Given the description of an element on the screen output the (x, y) to click on. 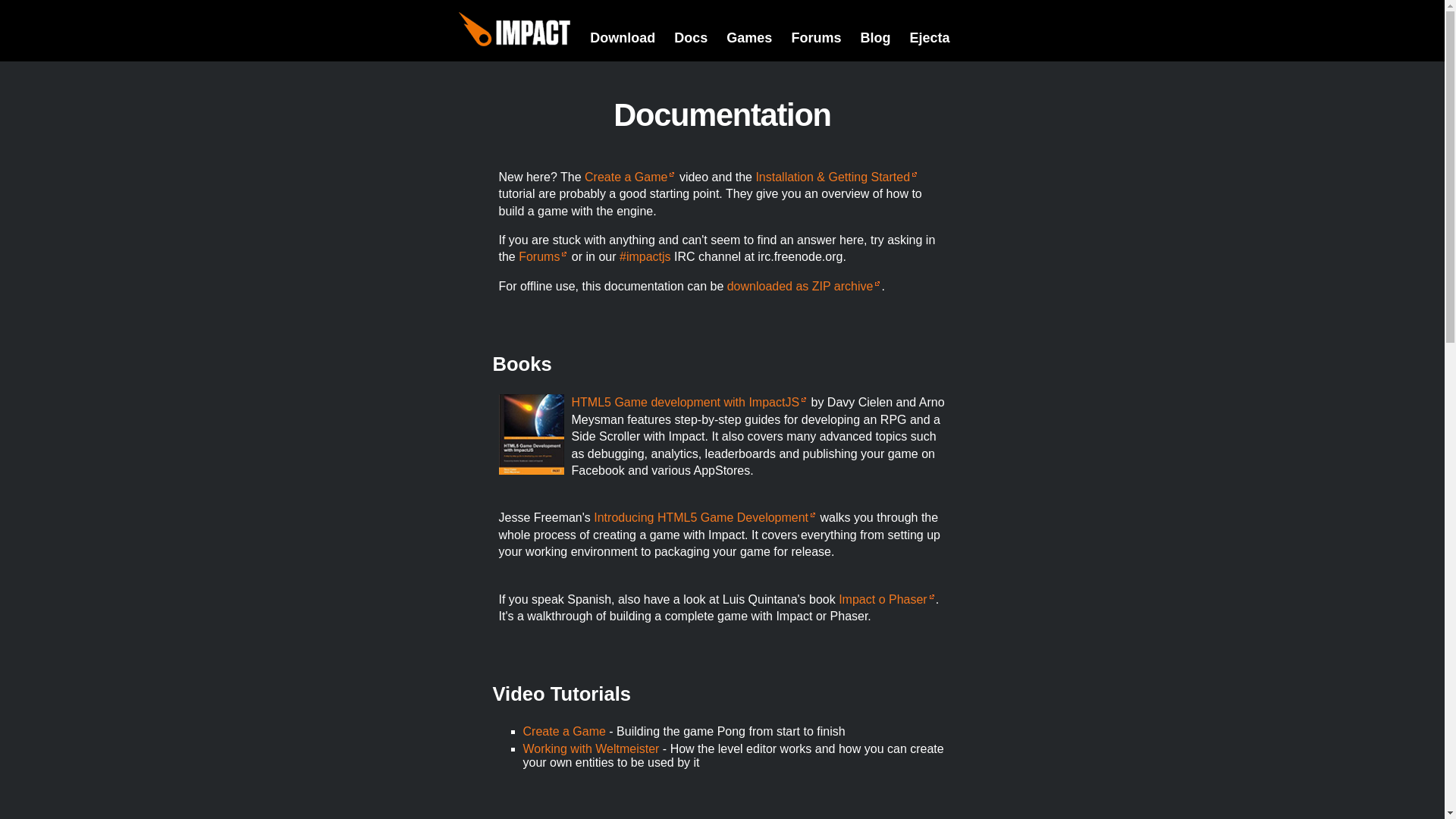
Create a Game (630, 176)
Working with Weltmeister (590, 748)
Impact o Phaser (887, 599)
downloaded as ZIP archive (804, 286)
Forums (815, 37)
HTML5 Game development with ImpactJS (690, 401)
Create a Game (563, 730)
Ejecta (928, 37)
Games (748, 37)
Download (622, 37)
Docs (690, 37)
Blog (874, 37)
Introducing HTML5 Game Development (705, 517)
Forums (542, 256)
